Given the description of an element on the screen output the (x, y) to click on. 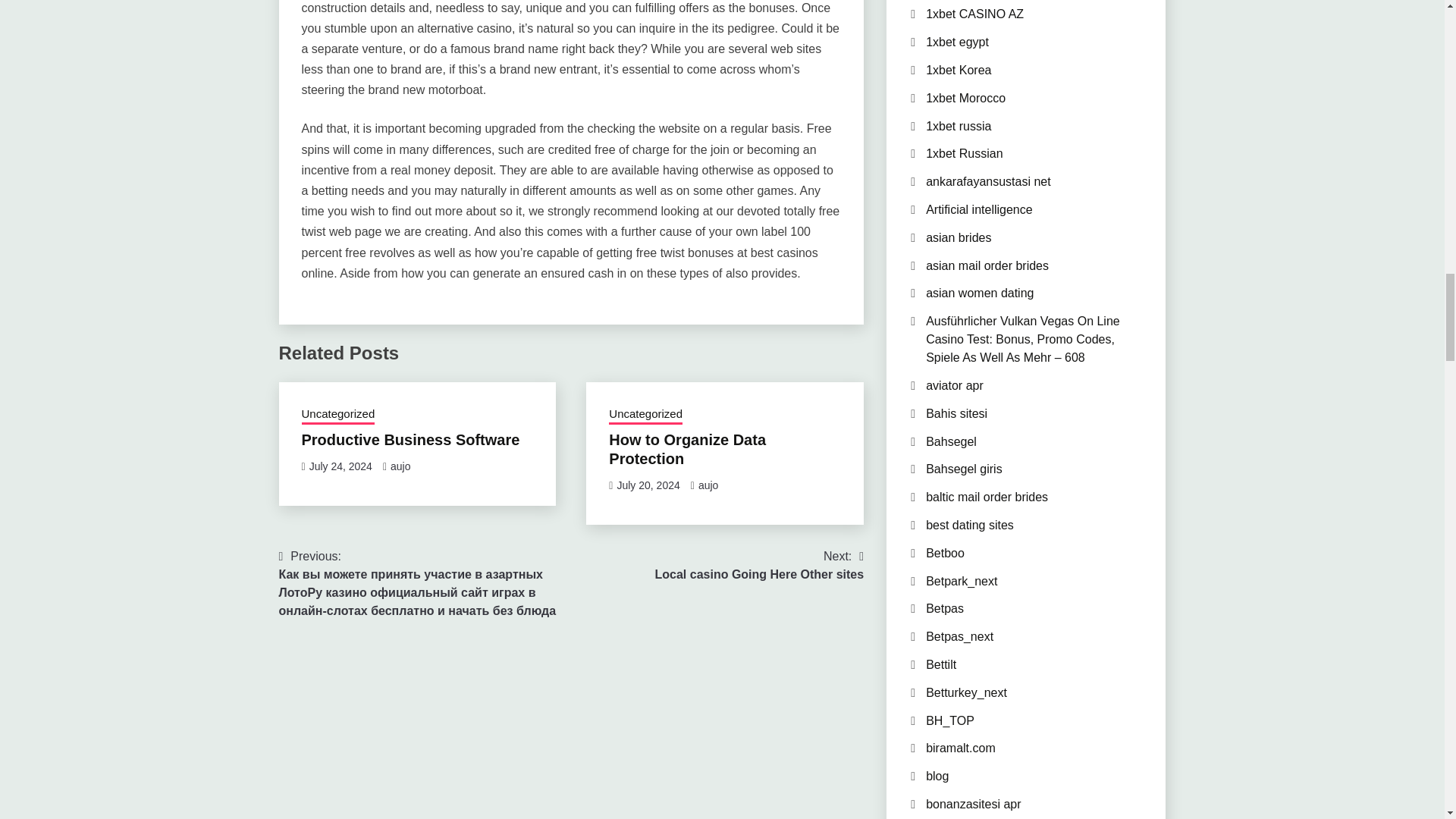
How to Organize Data Protection (686, 448)
aujo (707, 485)
aujo (759, 565)
July 24, 2024 (400, 466)
July 20, 2024 (340, 466)
Uncategorized (647, 485)
Uncategorized (338, 415)
Productive Business Software (645, 415)
